Given the description of an element on the screen output the (x, y) to click on. 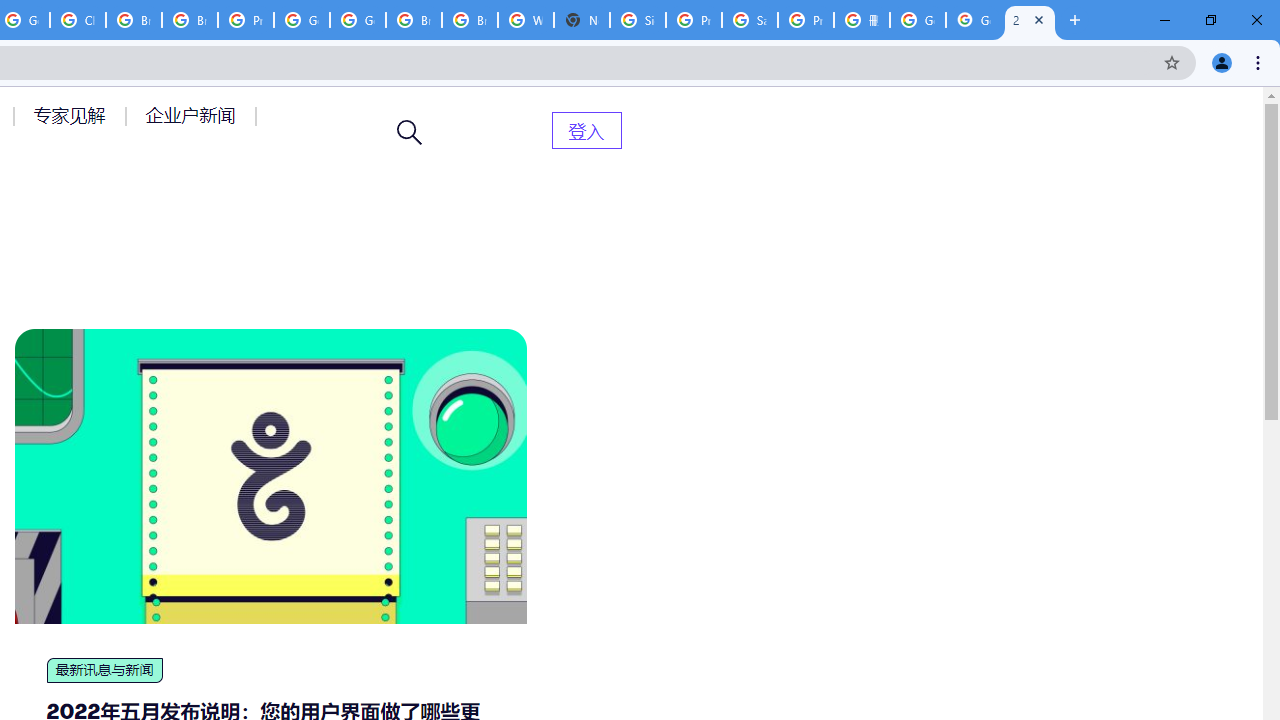
AutomationID: menu-item-77764 (72, 115)
AutomationID: menu-item-77765 (194, 115)
Open search form (410, 132)
Browse Chrome as a guest - Computer - Google Chrome Help (413, 20)
AutomationID: menu-item-82399 (586, 129)
